Given the description of an element on the screen output the (x, y) to click on. 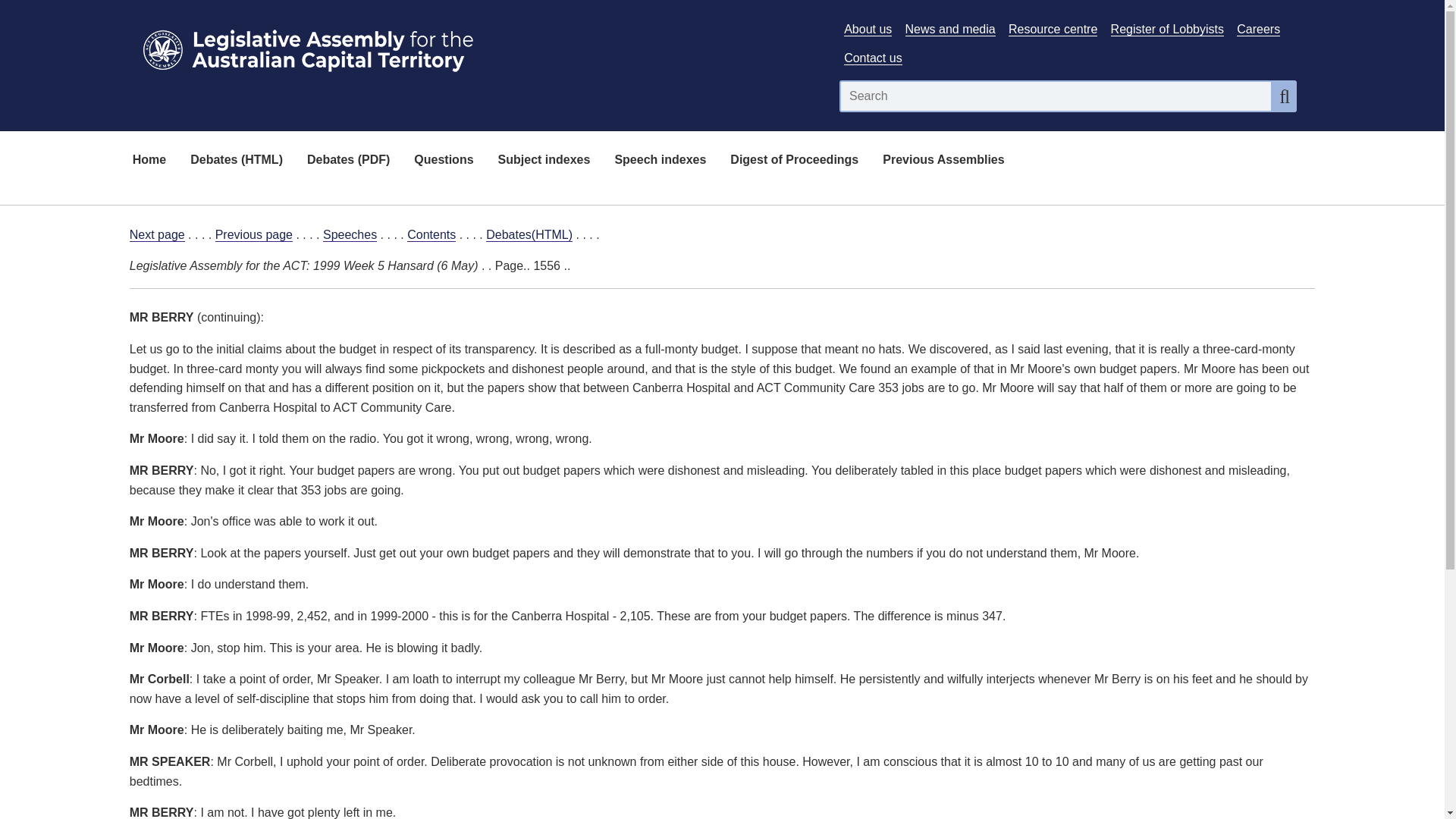
Subject indexes (544, 160)
Next page (156, 234)
News and media (950, 29)
Careers (1257, 29)
Questions (442, 160)
Register of Lobbyists (1167, 29)
Contact us (872, 58)
About us (867, 29)
Previous Assemblies (943, 160)
Link to Resource centre (1053, 29)
